Given the description of an element on the screen output the (x, y) to click on. 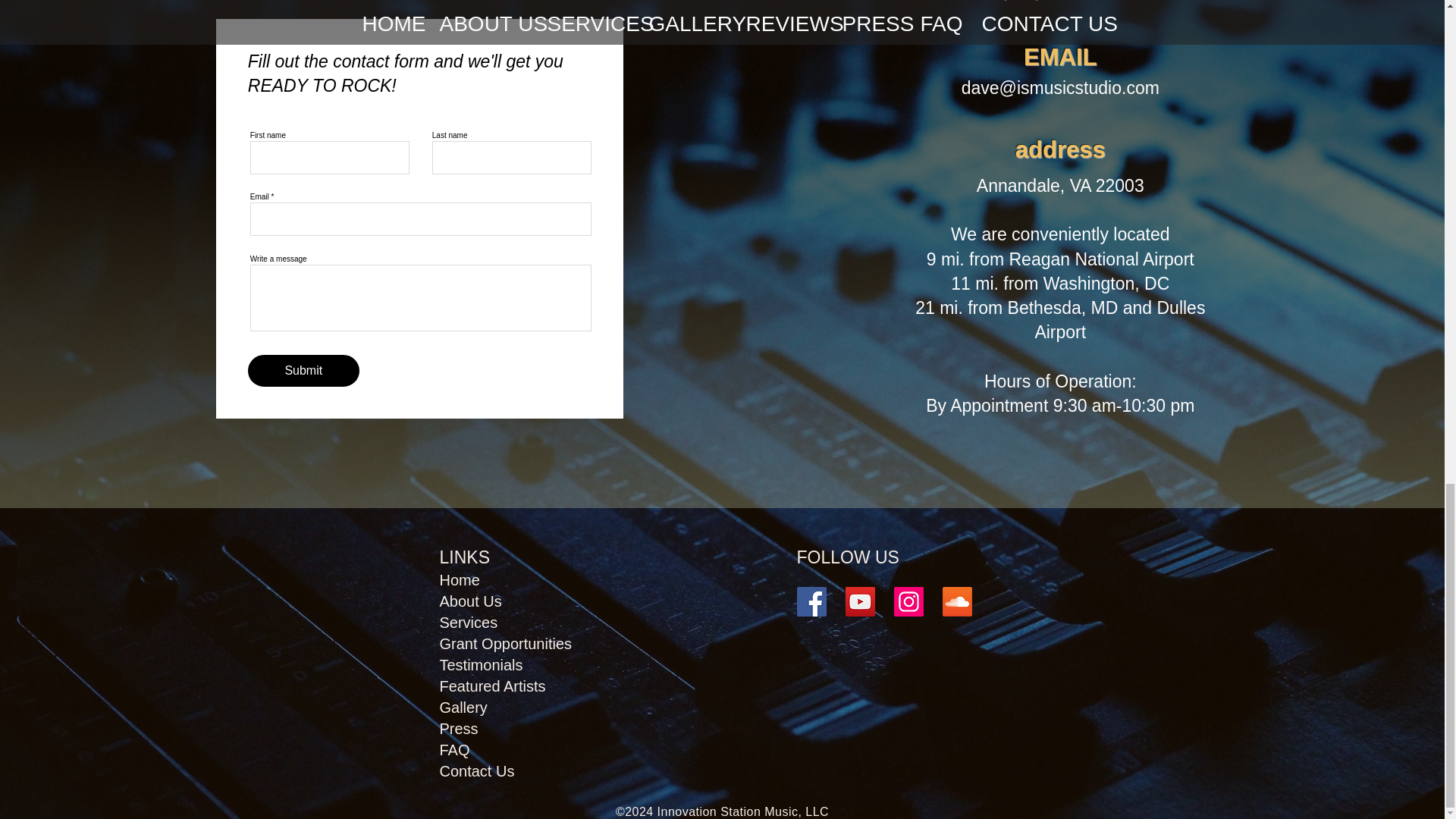
FAQ (454, 750)
Grant Opportunities (505, 643)
FOLLOW US (847, 557)
Press (459, 728)
Contact Us (477, 770)
Testimonials (480, 664)
LINKS (464, 557)
Services (468, 622)
Featured Artists (492, 686)
Submit (303, 370)
